Given the description of an element on the screen output the (x, y) to click on. 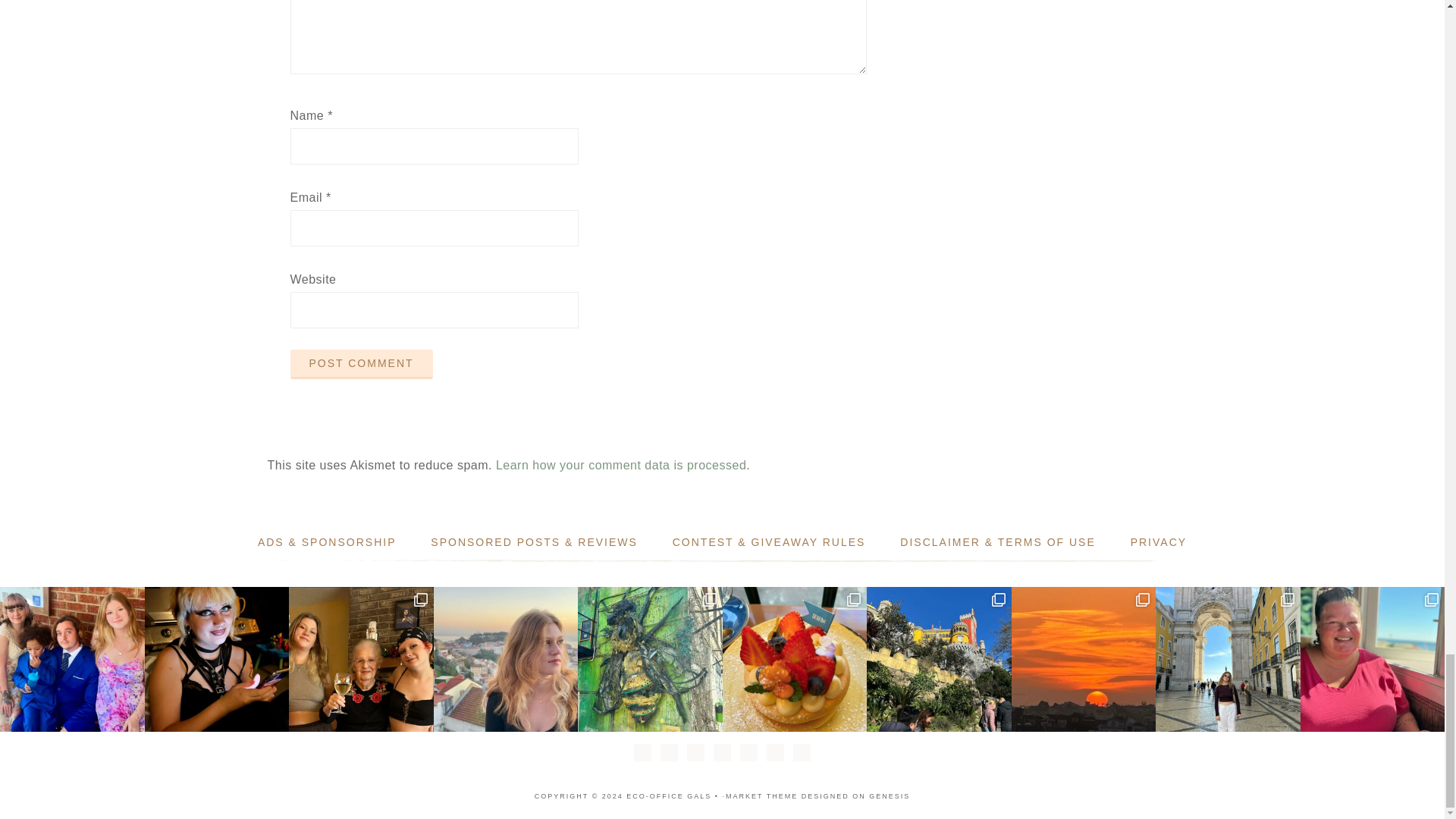
Post Comment (360, 364)
